Given the description of an element on the screen output the (x, y) to click on. 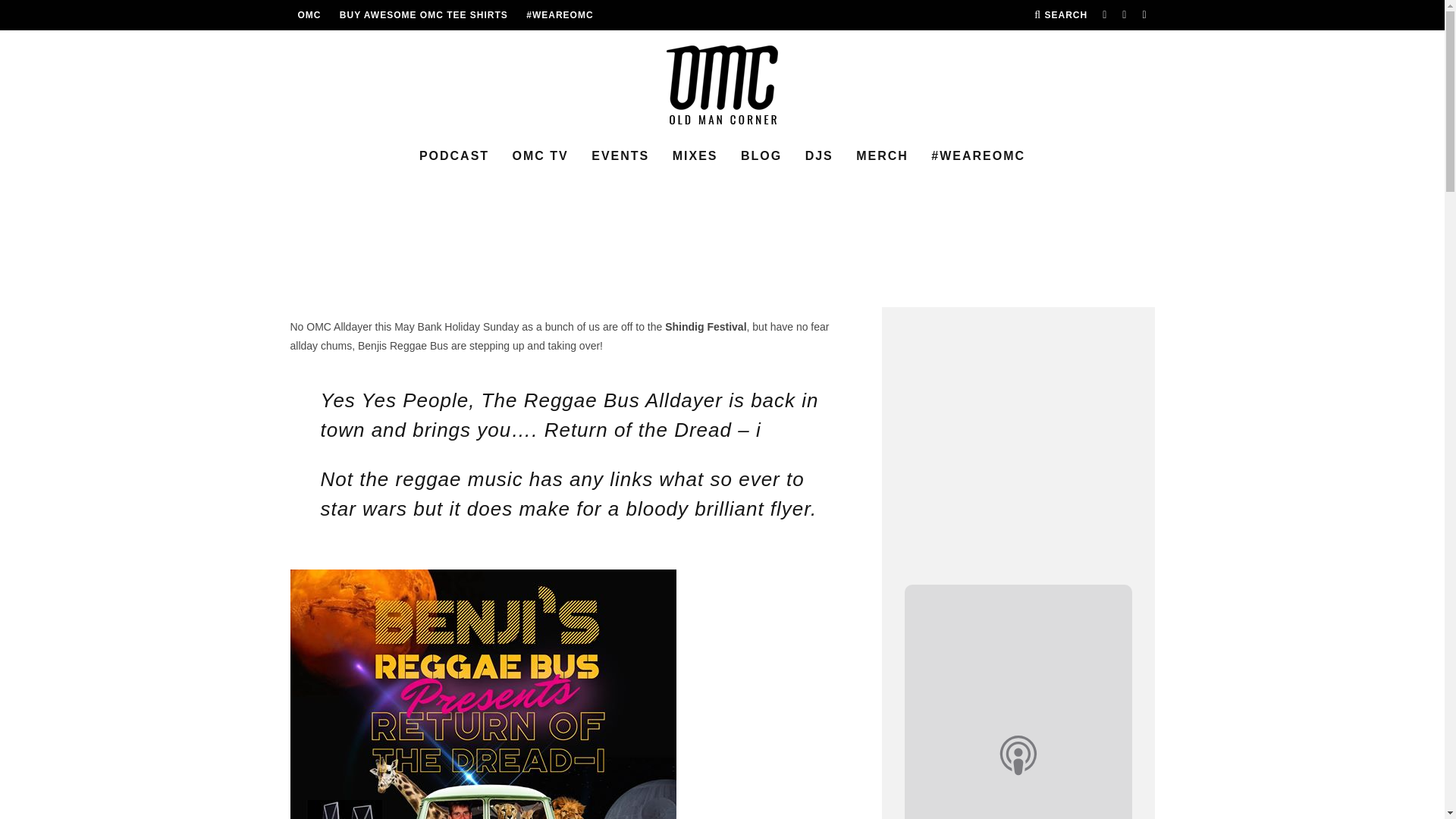
BUY AWESOME OMC TEE SHIRTS (423, 15)
EVENTS (620, 156)
OMC TV (540, 156)
SEARCH (1060, 15)
Search (1060, 15)
PODCAST (453, 156)
